Given the description of an element on the screen output the (x, y) to click on. 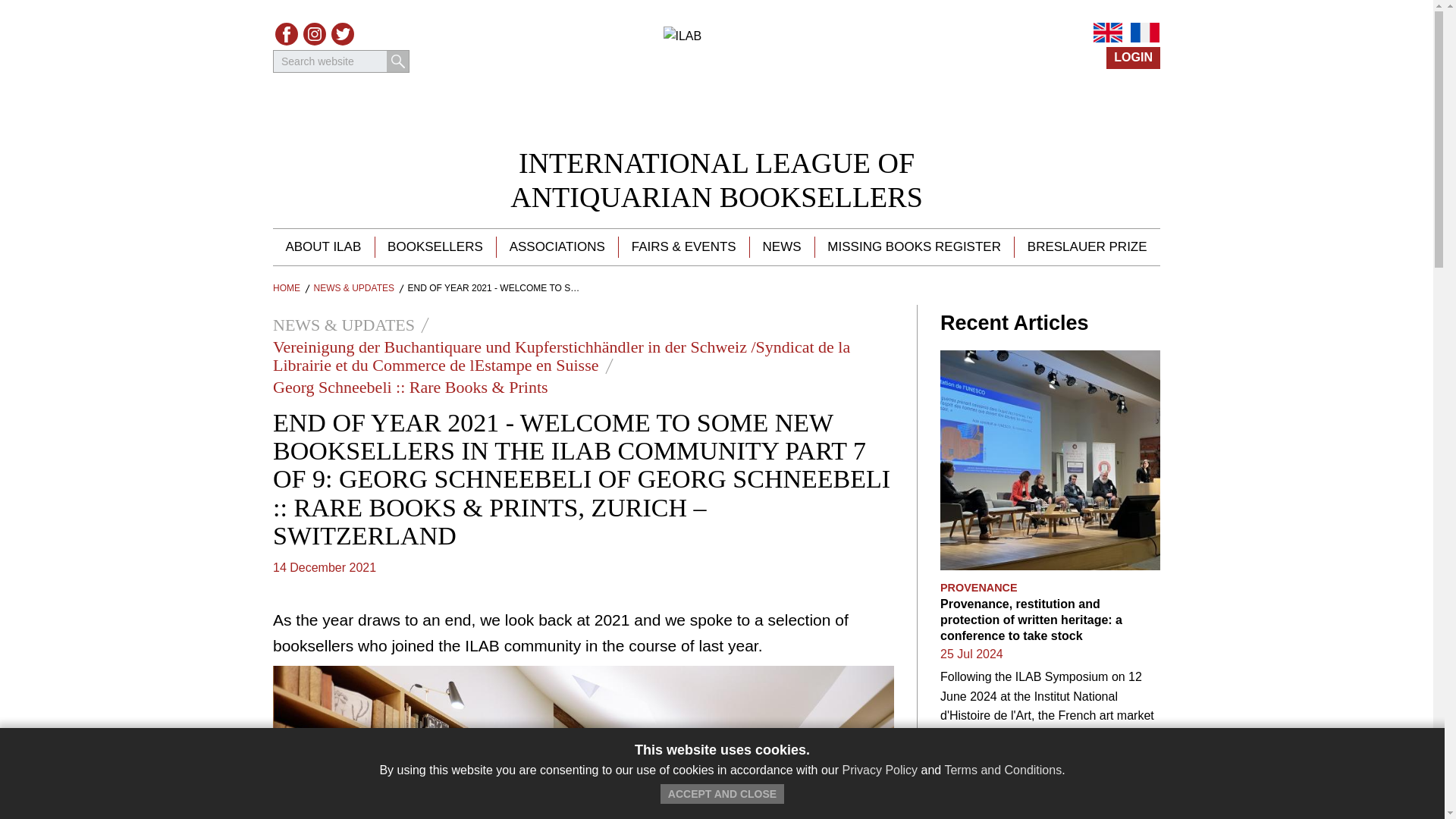
See our Instagram feed (314, 33)
BRESLAUER PRIZE (1086, 246)
FR (716, 180)
ACCEPT AND CLOSE (1144, 32)
NEWS (722, 793)
Visit our Facebook page (781, 246)
SEARCH (286, 33)
Terms and Conditions (398, 60)
ABOUT ILAB (1002, 769)
BOOKSELLERS (323, 246)
Facebook (435, 246)
MISSING BOOKS REGISTER (286, 33)
HOME (913, 246)
Return to ILAB main site (286, 287)
